Given the description of an element on the screen output the (x, y) to click on. 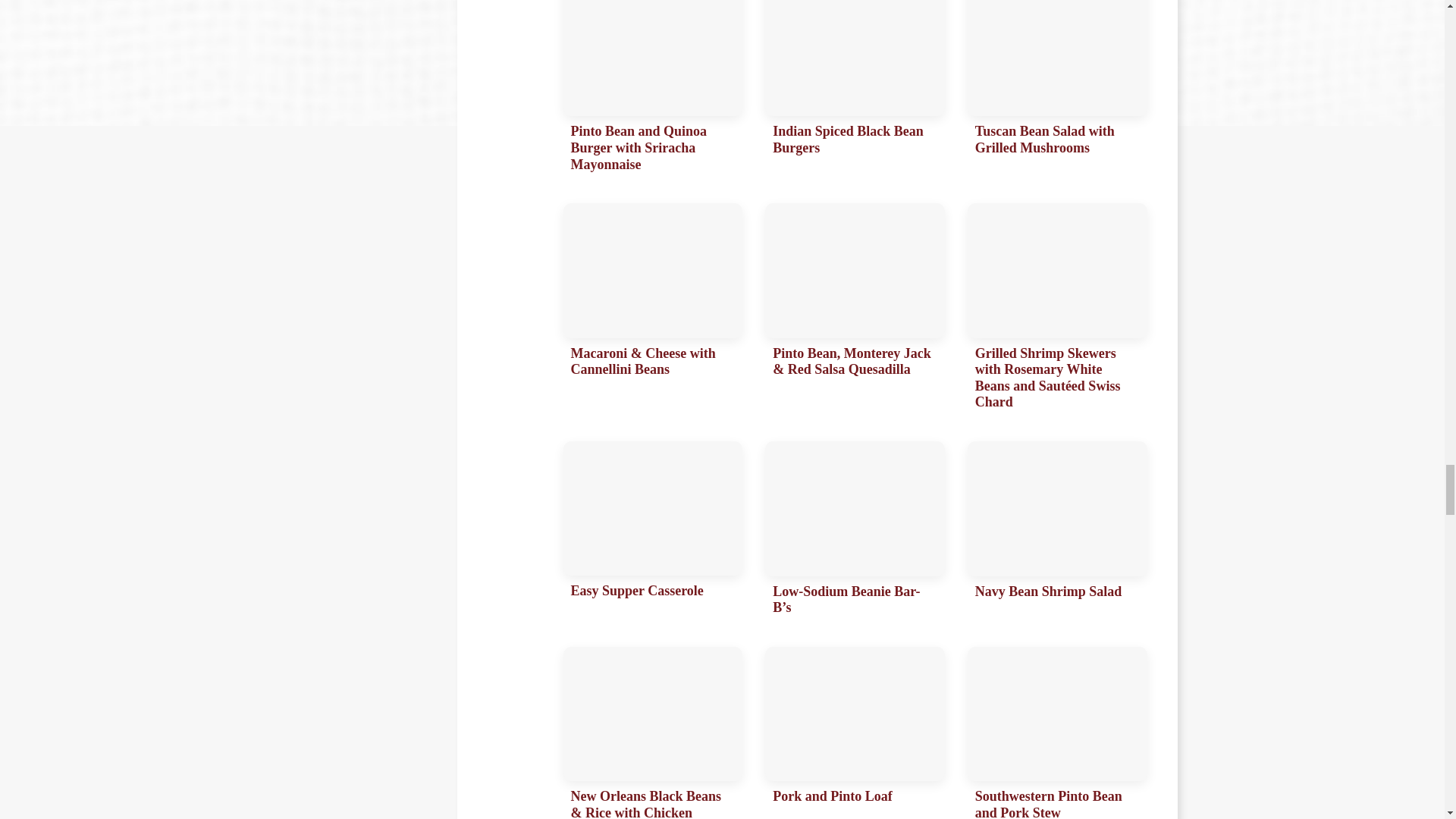
Pork and Pinto Loaf (854, 733)
Pinto Bean and Quinoa Burger with Sriracha Mayonnaise (652, 90)
Southwestern Pinto Bean and Pork Stew (1057, 733)
Easy Supper Casserole (652, 532)
Indian Spiced Black Bean Burgers (854, 90)
Tuscan Bean Salad with Grilled Mushrooms (1057, 90)
Navy Bean Shrimp Salad (1057, 532)
